Given the description of an element on the screen output the (x, y) to click on. 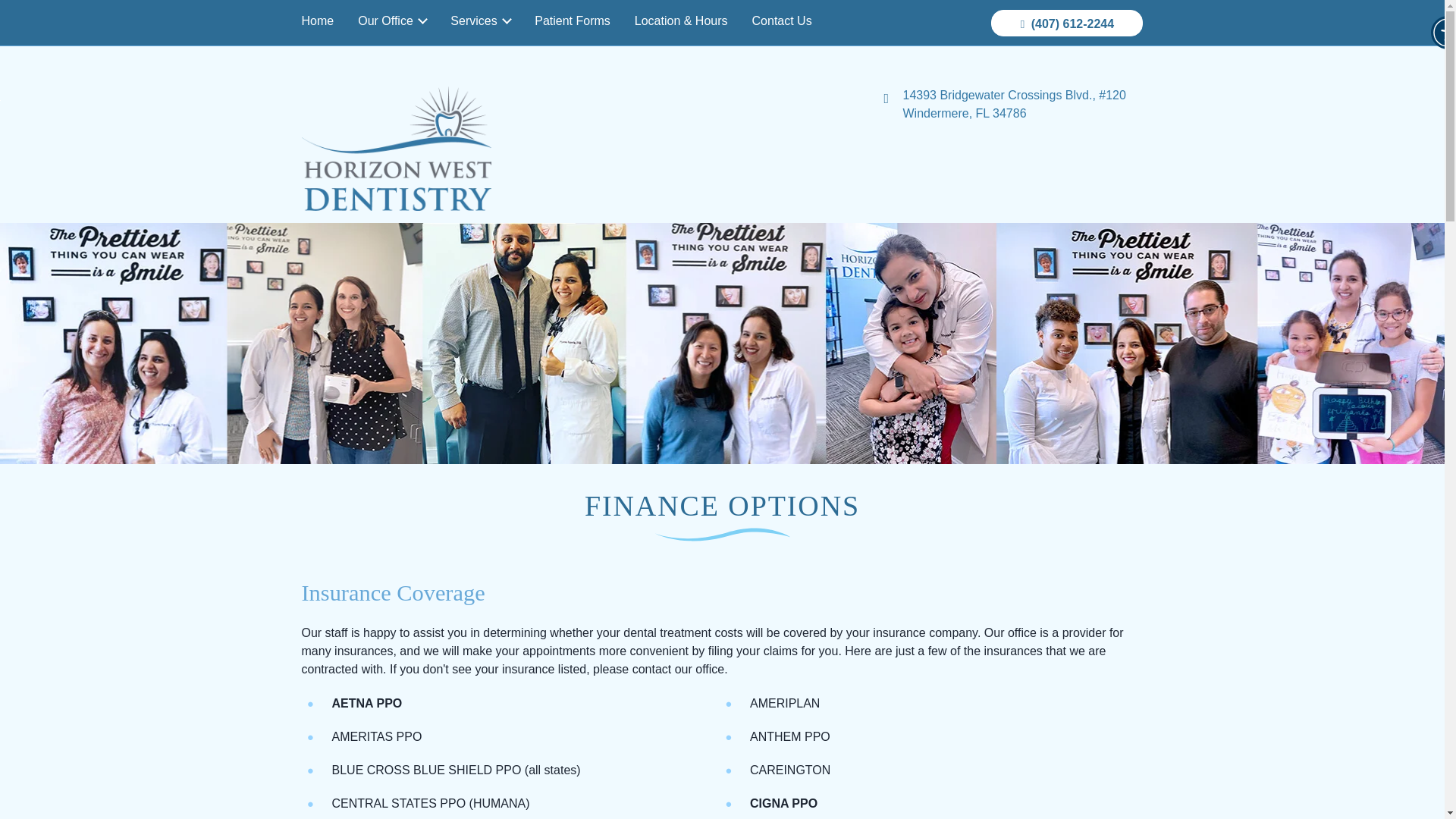
Contact Us (781, 20)
Book Appointment (1074, 16)
Our Office (392, 20)
Home (323, 20)
Services (480, 20)
Patient Forms (572, 20)
